Given the description of an element on the screen output the (x, y) to click on. 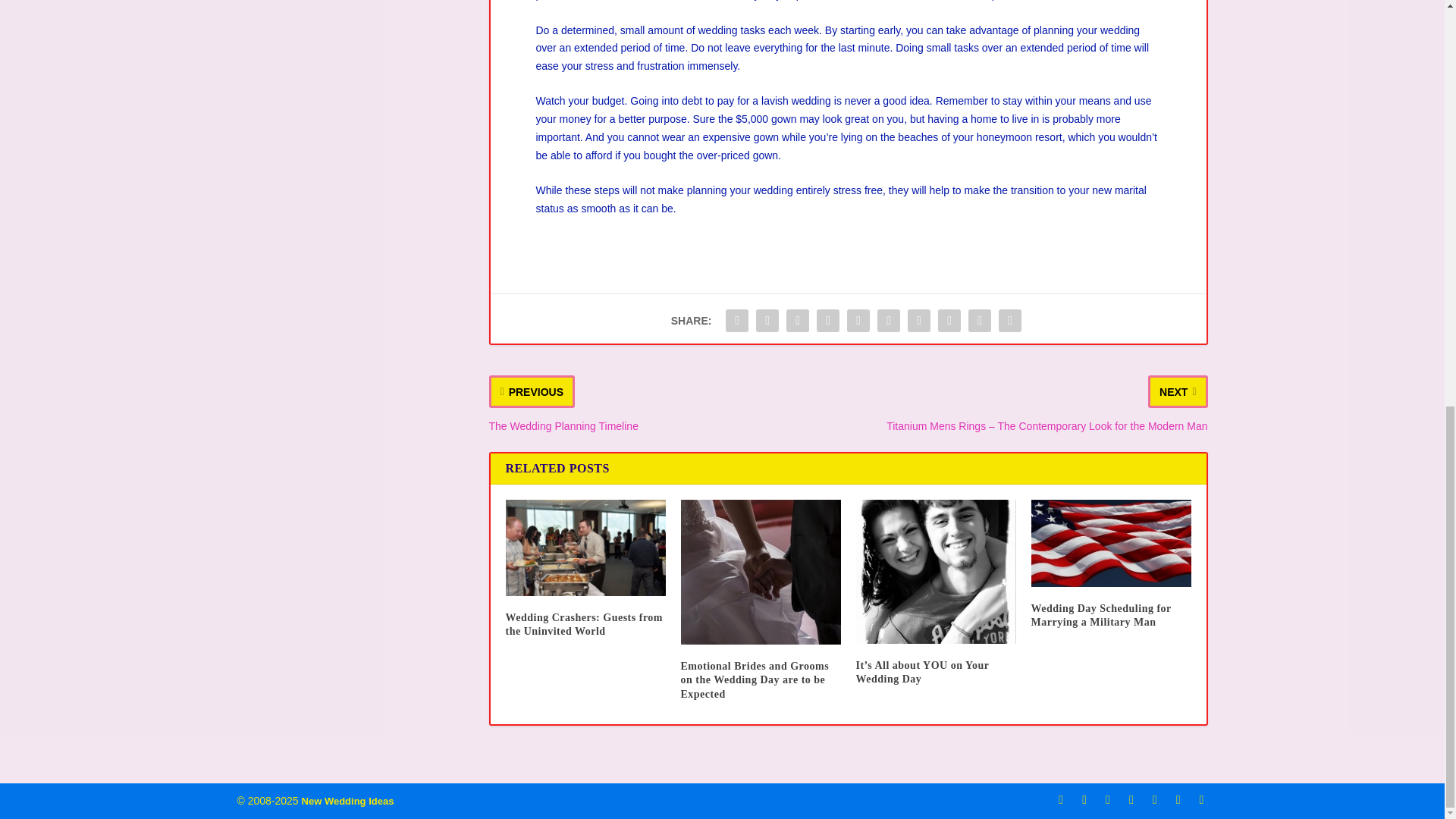
Share "Tips to make your wedding day perfect" via Email (978, 320)
Share "Tips to make your wedding day perfect" via Tumblr (827, 320)
Wedding Crashers: Guests from the Uninvited World (585, 547)
Share "Tips to make your wedding day perfect" via Facebook (737, 320)
Share "Tips to make your wedding day perfect" via Buffer (919, 320)
Share "Tips to make your wedding day perfect" via Pinterest (858, 320)
Share "Tips to make your wedding day perfect" via LinkedIn (888, 320)
Share "Tips to make your wedding day perfect" via Twitter (767, 320)
Share "Tips to make your wedding day perfect" via Print (1009, 320)
